Given the description of an element on the screen output the (x, y) to click on. 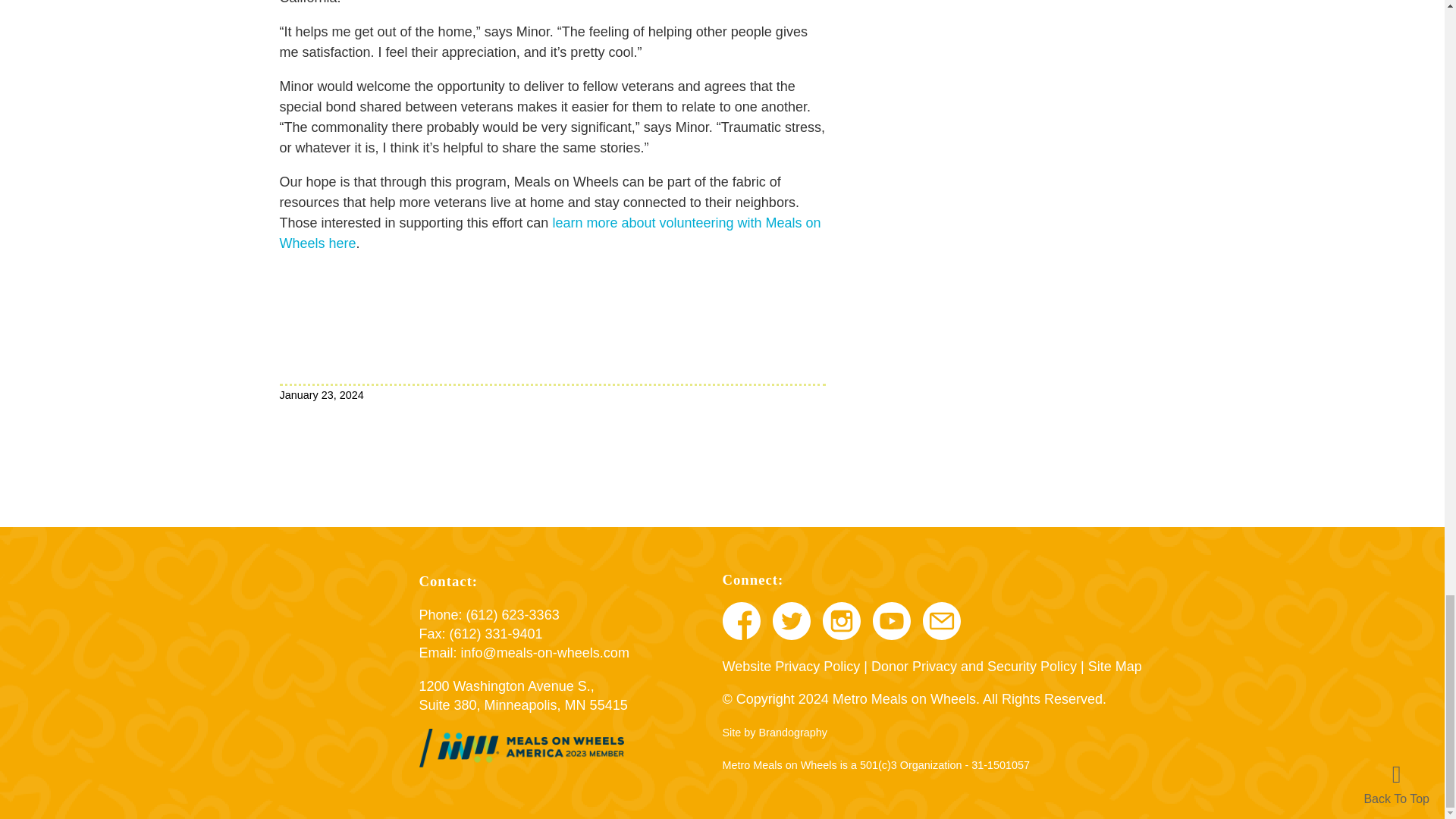
Email Metro Meals on Wheels (544, 652)
Privacy Policy (791, 666)
Subscribe to the Metro Meals on Wheels Newsletter (940, 621)
Metro Meals on Wheels on Facebook (741, 621)
Donor Privacy and Security Policy (973, 666)
Metrol Meals on Wheels on YouTube (891, 621)
Site Map (1114, 666)
Metro Meals on Wheels on Instagram (841, 621)
Metro Meals on Wheels on Twitter (790, 621)
